Given the description of an element on the screen output the (x, y) to click on. 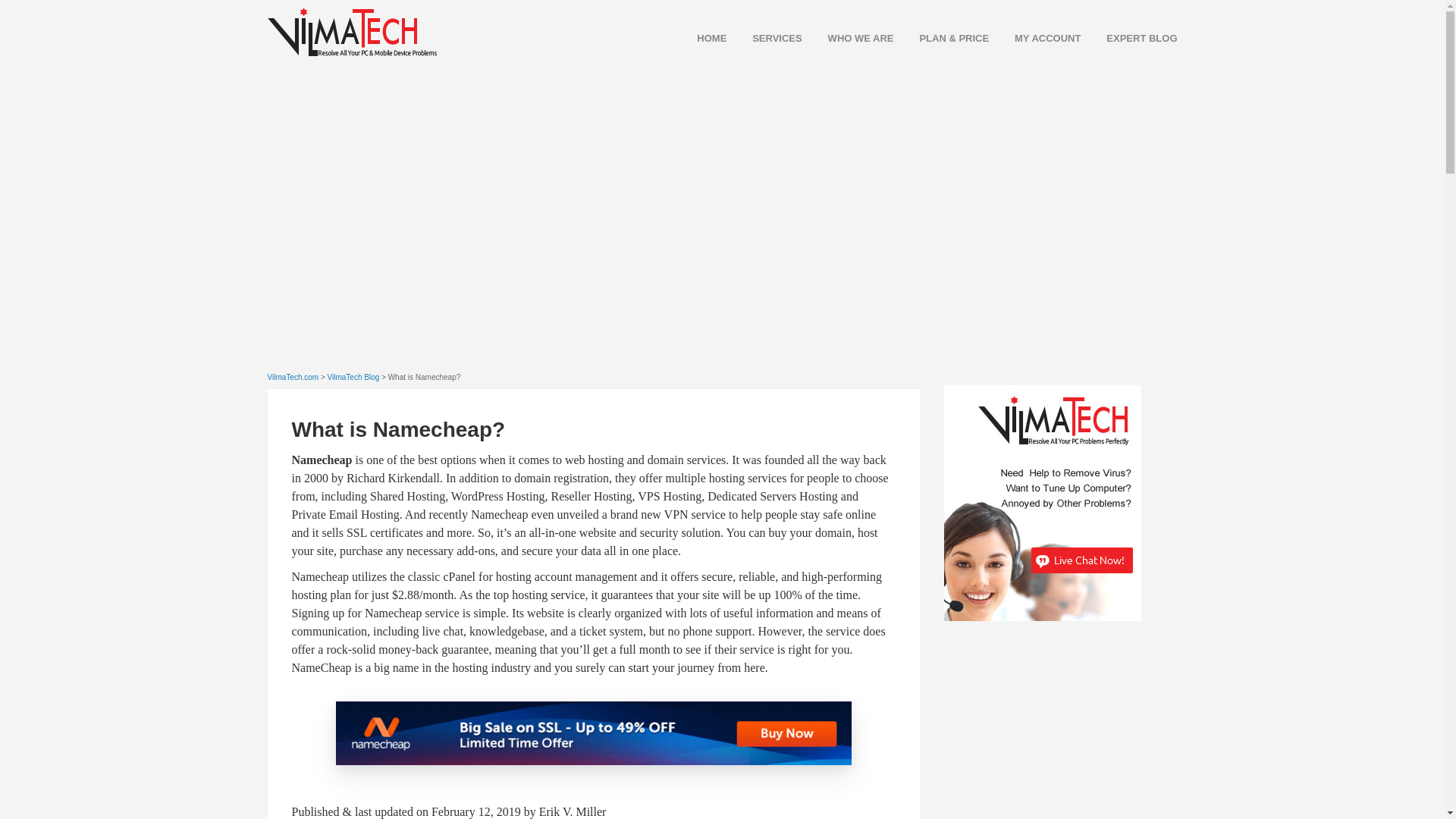
WHO WE ARE (849, 38)
VilmaTech.com (292, 377)
EXPERT BLOG (1129, 38)
HOME (700, 38)
VilmaTech Blog (353, 377)
MY ACCOUNT (1035, 38)
Advertisement (1056, 727)
SERVICES (765, 38)
